Given the description of an element on the screen output the (x, y) to click on. 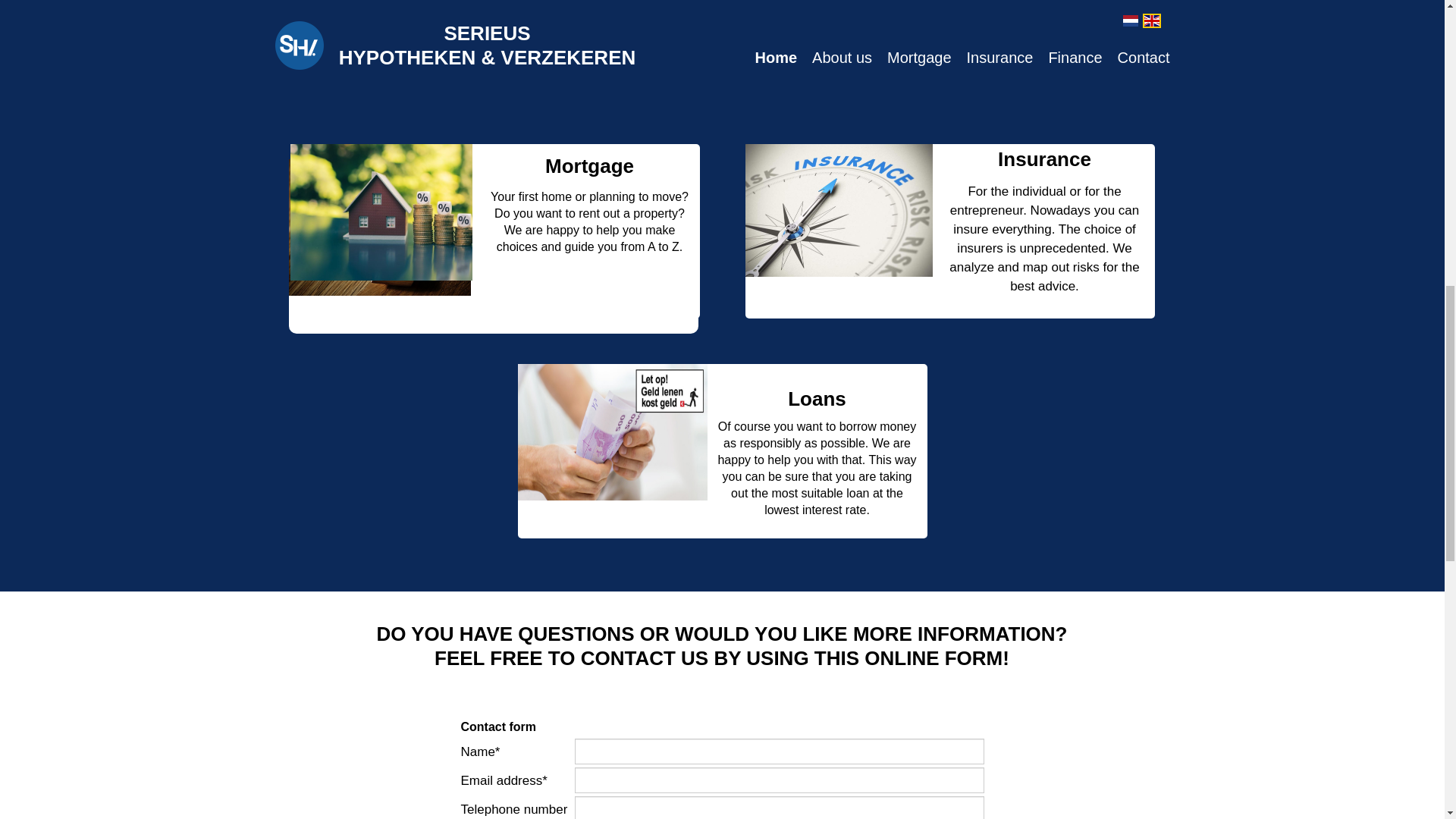
Mortgage (588, 165)
Serious Mortgages (588, 165)
Serious Loans (816, 398)
Loans (816, 398)
